Given the description of an element on the screen output the (x, y) to click on. 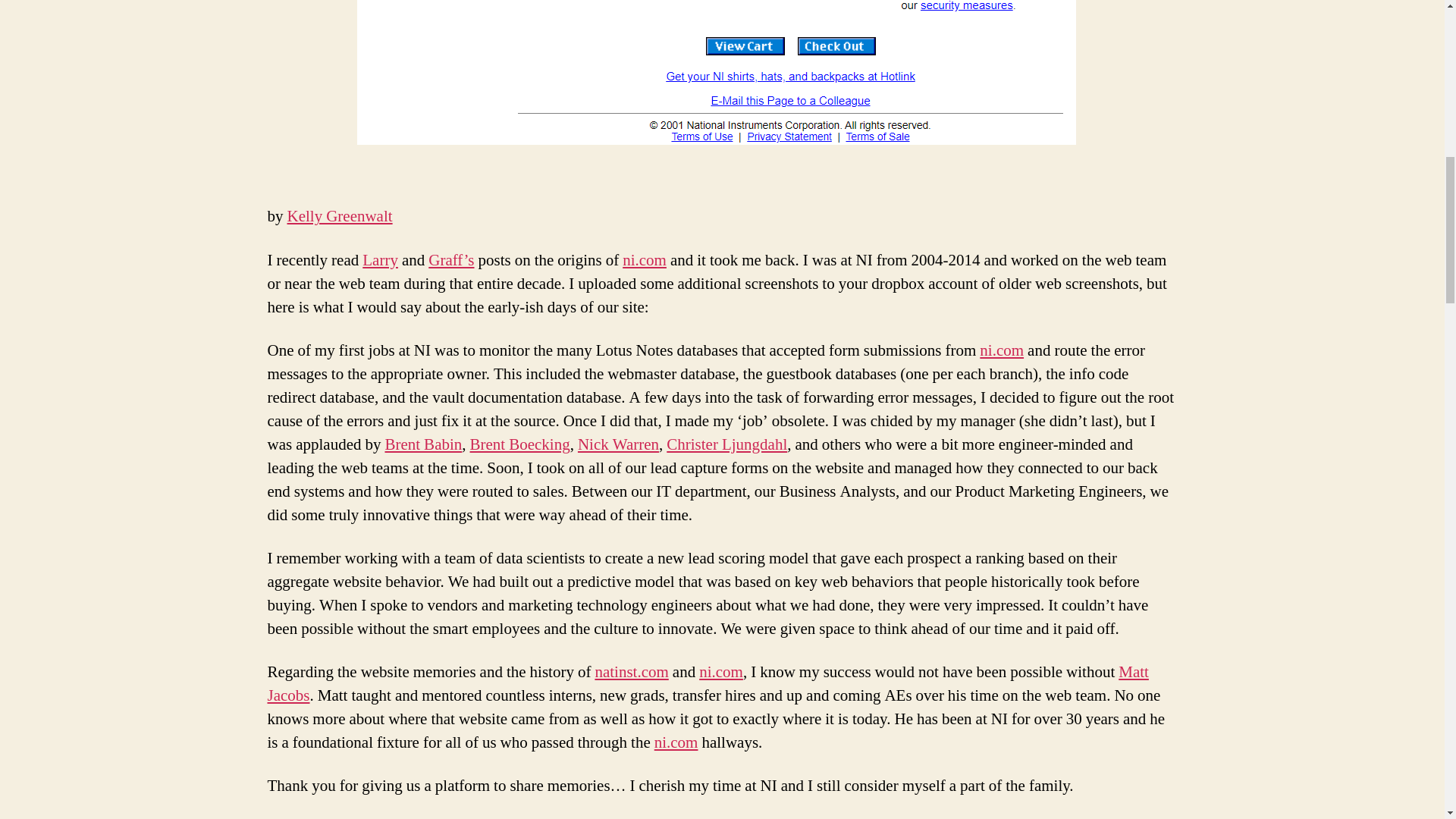
Brent Boecking (520, 444)
ni.com (720, 671)
Christer Ljungdahl (726, 444)
Kelly Greenwalt (338, 216)
ni.com (644, 260)
Nick Warren (618, 444)
Matt Jacobs (707, 683)
ni.com (1001, 350)
Larry (379, 260)
natinst.com (631, 671)
ni.com (675, 742)
Brent Babin (422, 444)
